Given the description of an element on the screen output the (x, y) to click on. 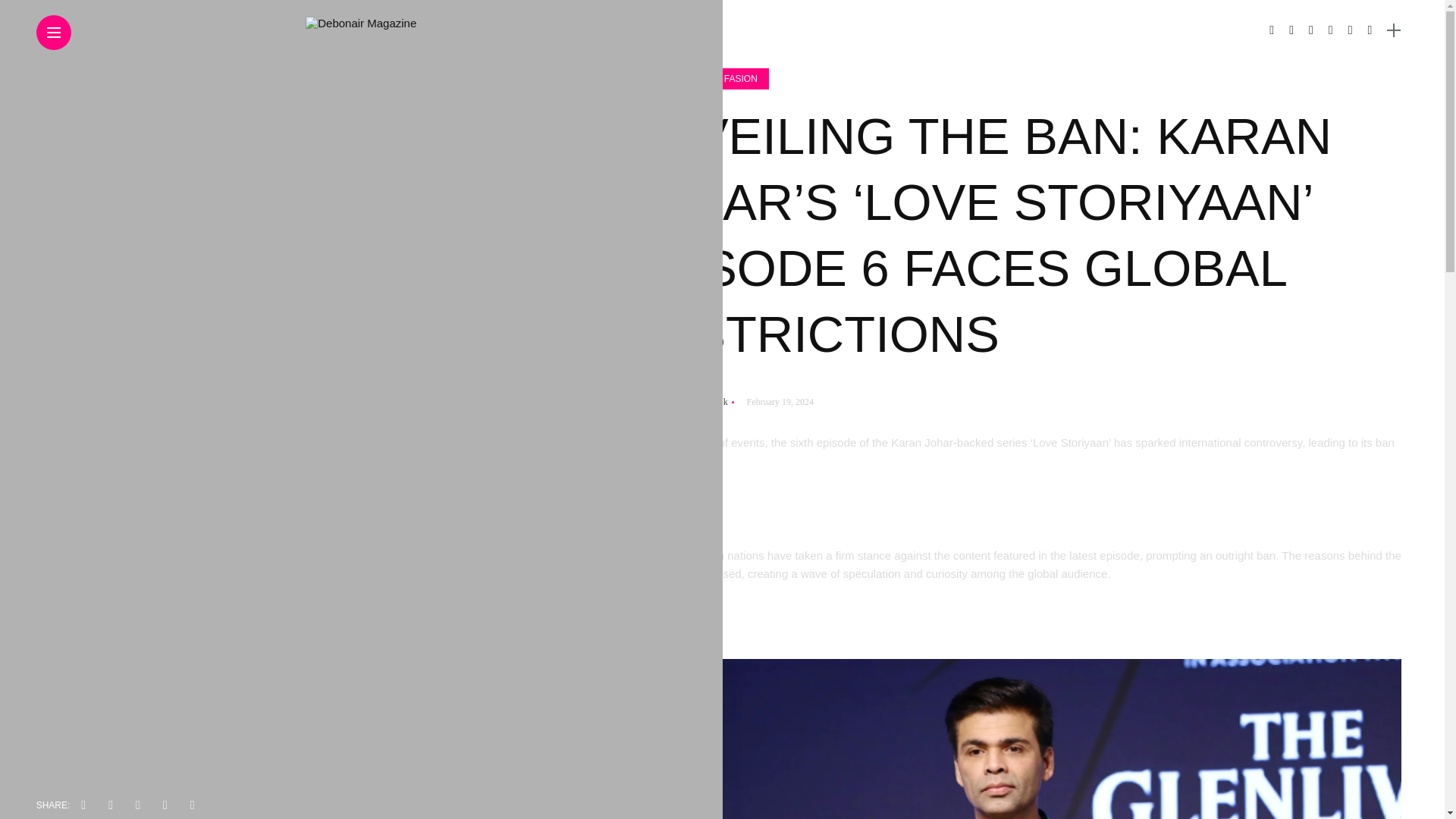
Editorial Desk (697, 401)
Posts by Editorial Desk (697, 401)
